Given the description of an element on the screen output the (x, y) to click on. 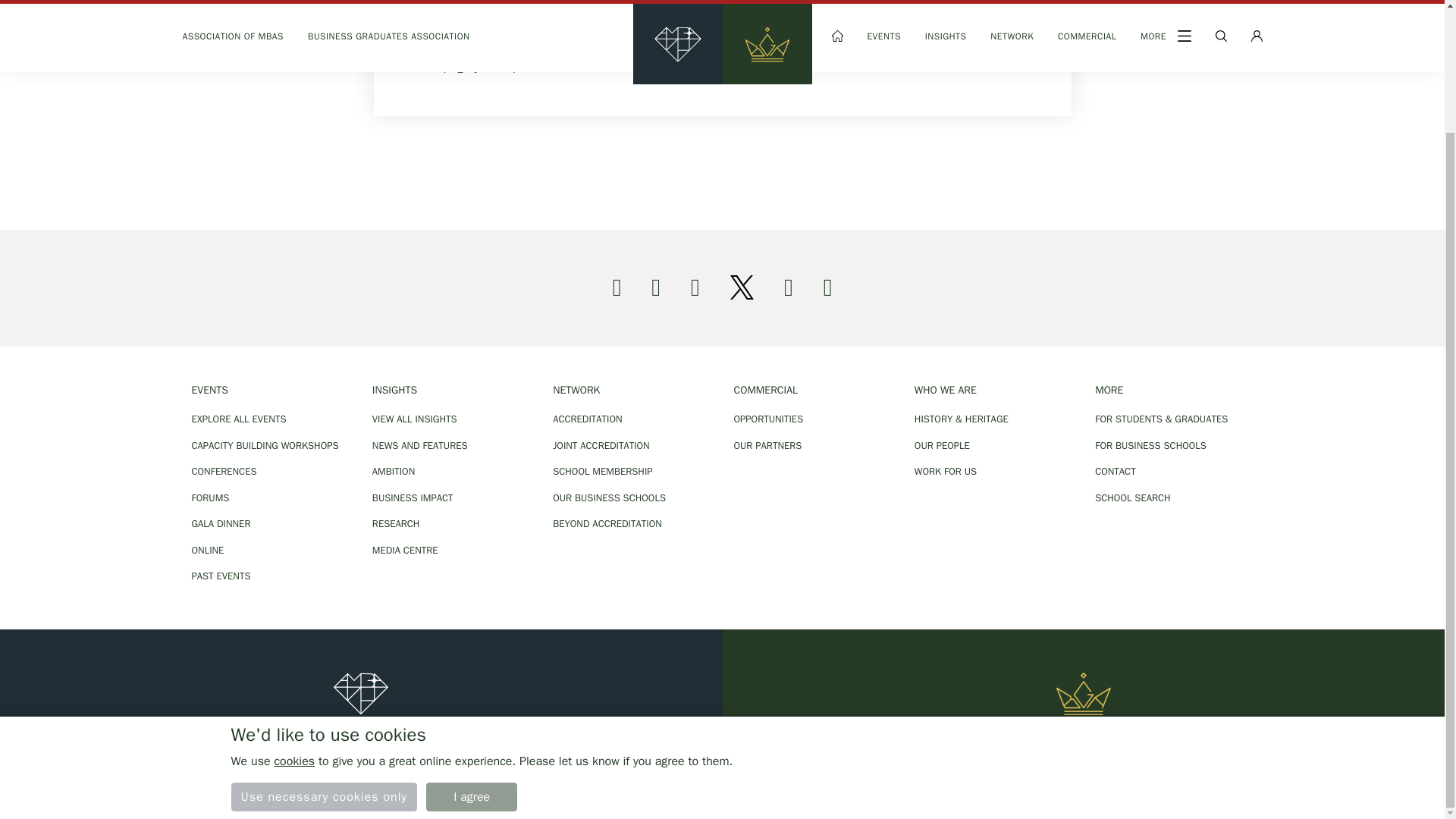
PAST EVENTS (269, 575)
BUSINESS IMPACT (450, 498)
OPPORTUNITIES (812, 418)
JOINT ACCREDITATION (631, 445)
CAPACITY BUILDING WORKSHOPS (269, 445)
EXPLORE ALL EVENTS (269, 418)
ACCREDITATION (631, 418)
OUR BUSINESS SCHOOLS (631, 498)
MEDIA CENTRE (450, 549)
VIEW ALL INSIGHTS (450, 418)
